Given the description of an element on the screen output the (x, y) to click on. 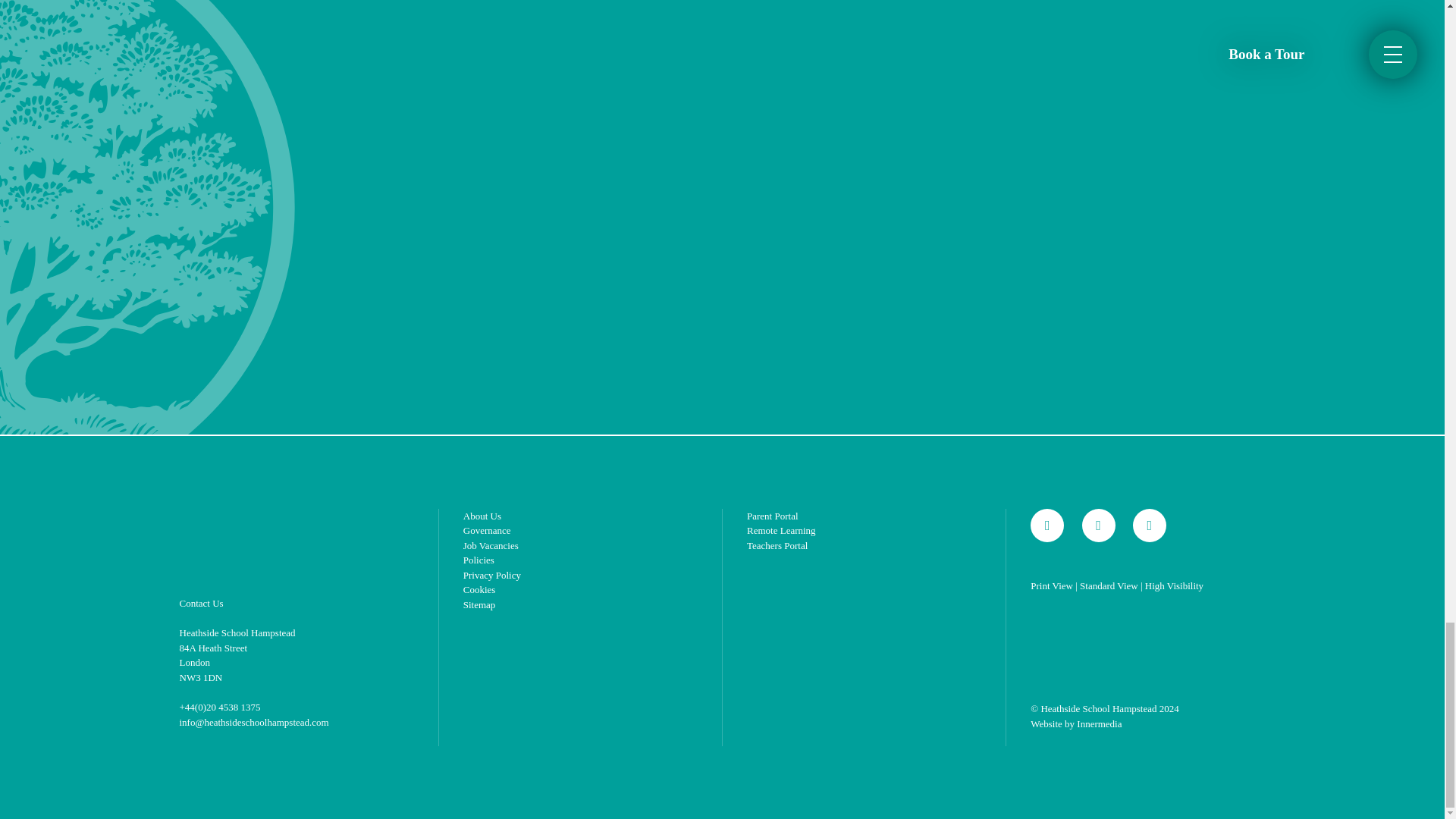
Facebook (1047, 525)
Switch to Standard Visibility (1109, 585)
Switch to Print (1051, 585)
Switch to High Visibility (1174, 585)
Instagram (1098, 525)
